Given the description of an element on the screen output the (x, y) to click on. 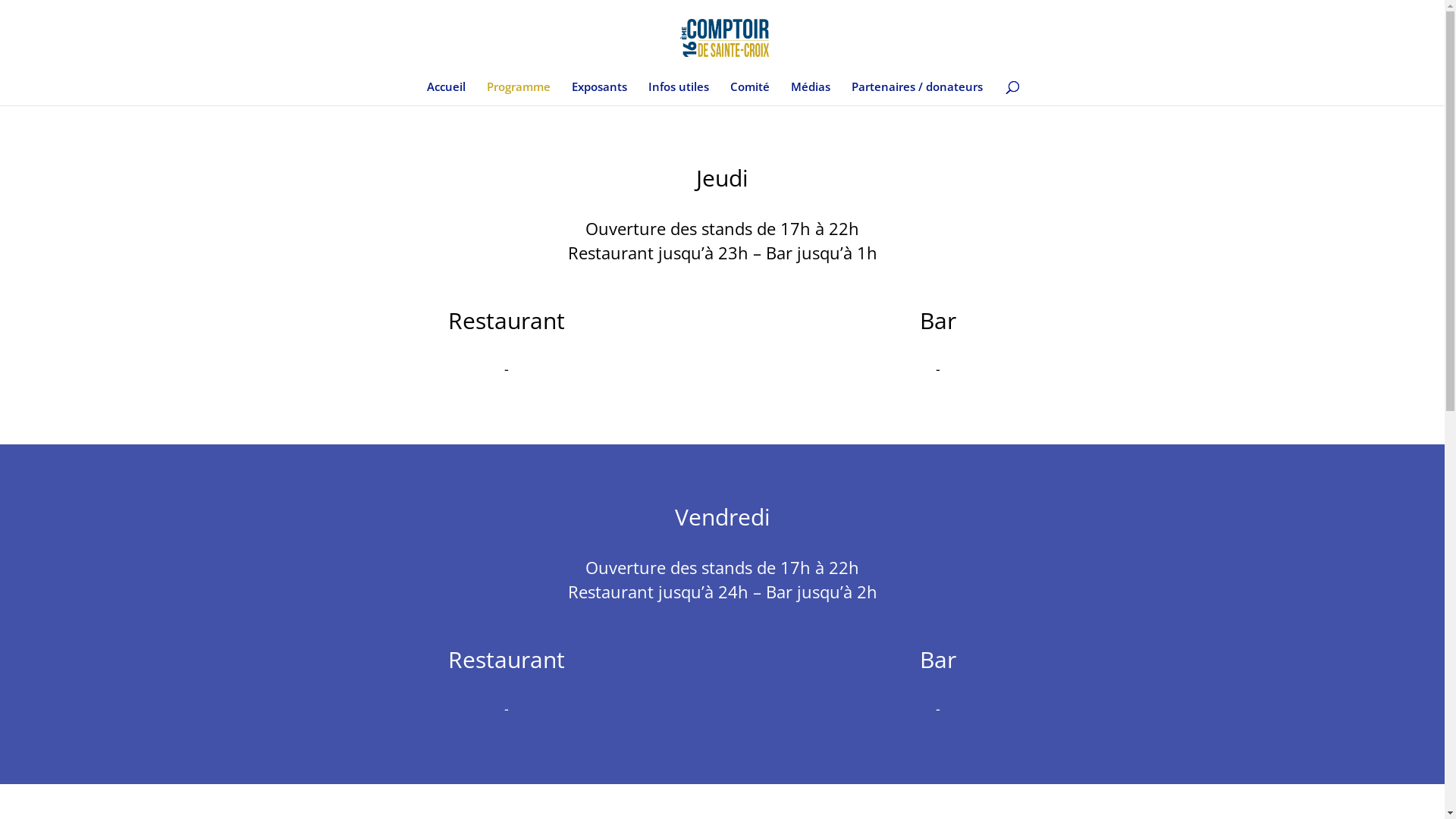
Programme Element type: text (518, 93)
Partenaires / donateurs Element type: text (916, 93)
Accueil Element type: text (445, 93)
Infos utiles Element type: text (678, 93)
Exposants Element type: text (599, 93)
